Given the description of an element on the screen output the (x, y) to click on. 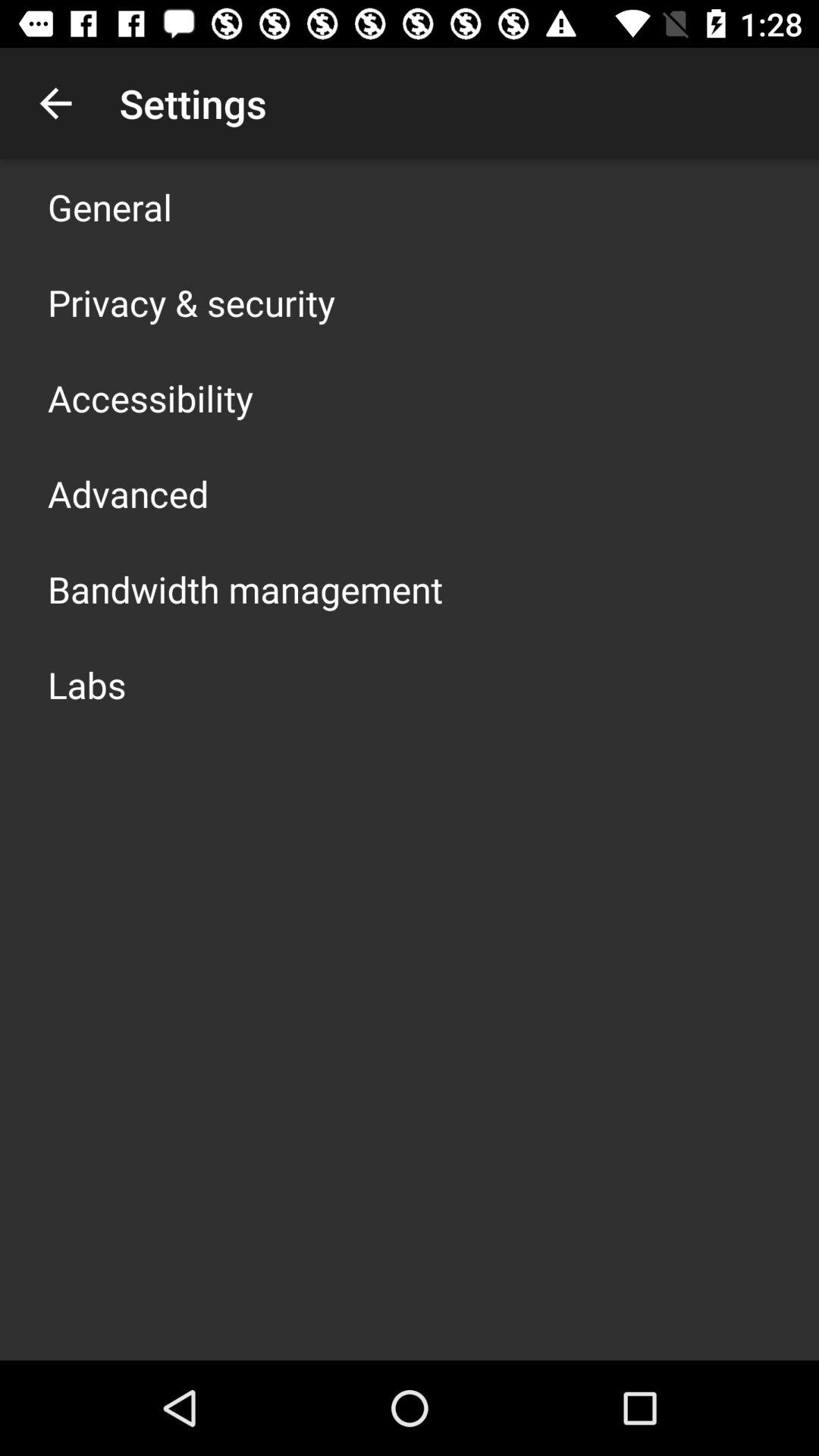
tap general (109, 206)
